Given the description of an element on the screen output the (x, y) to click on. 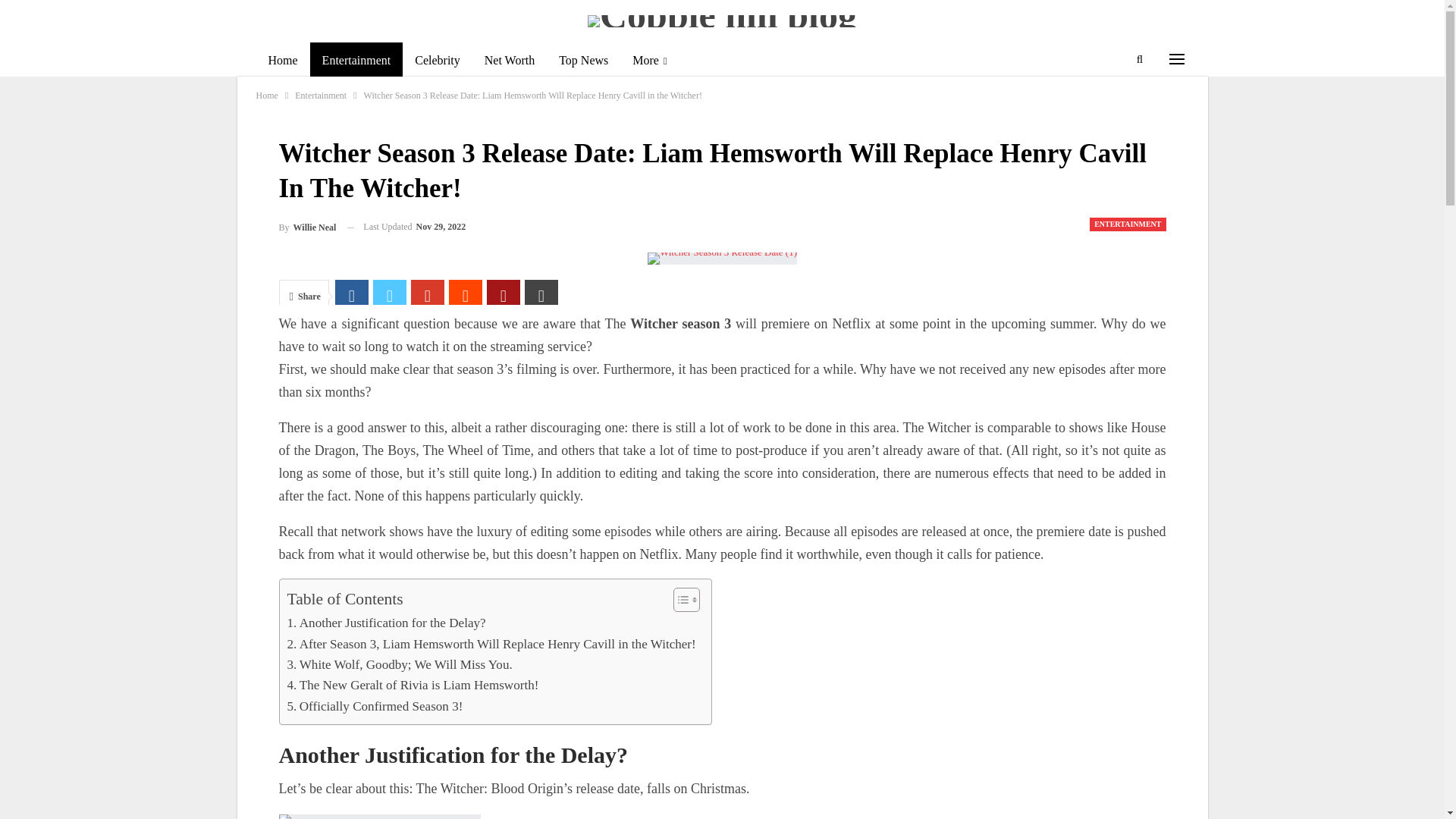
The New Geralt of Rivia is Liam Hemsworth! (412, 684)
Officially Confirmed Season 3! (374, 706)
More (649, 60)
Entertainment (320, 95)
Officially Confirmed Season 3! (374, 706)
Another Justification for the Delay? (385, 622)
White Wolf, Goodby; We Will Miss You. (399, 664)
White Wolf, Goodby; We Will Miss You. (399, 664)
Browse Author Articles (307, 227)
Top News (583, 60)
Celebrity (437, 60)
Home (283, 60)
By Willie Neal (307, 227)
Net Worth (509, 60)
